Given the description of an element on the screen output the (x, y) to click on. 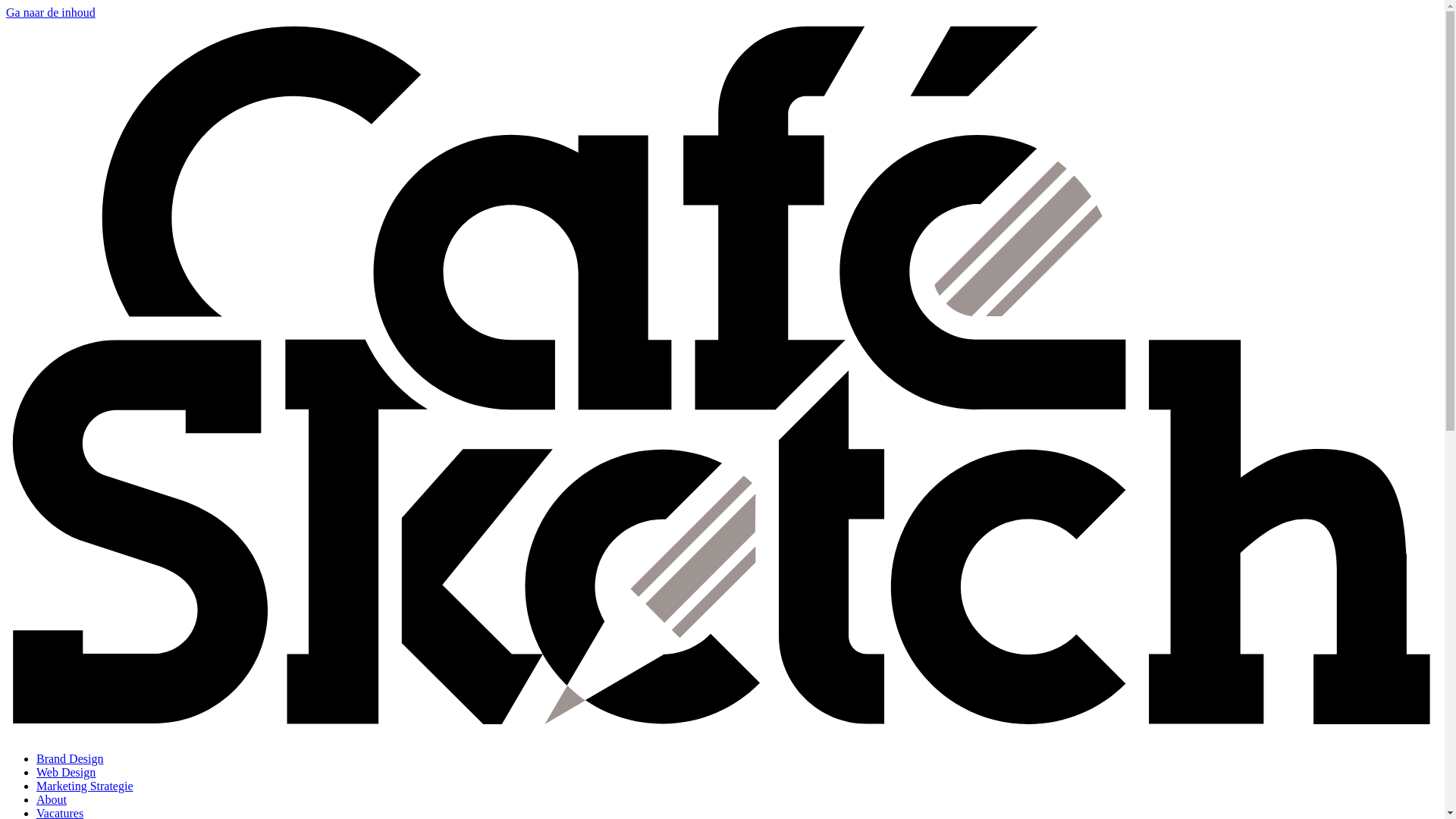
Web Design Element type: text (65, 771)
About Element type: text (51, 799)
Brand Design Element type: text (69, 758)
Marketing Strategie Element type: text (84, 785)
Ga naar de inhoud Element type: text (50, 12)
